Given the description of an element on the screen output the (x, y) to click on. 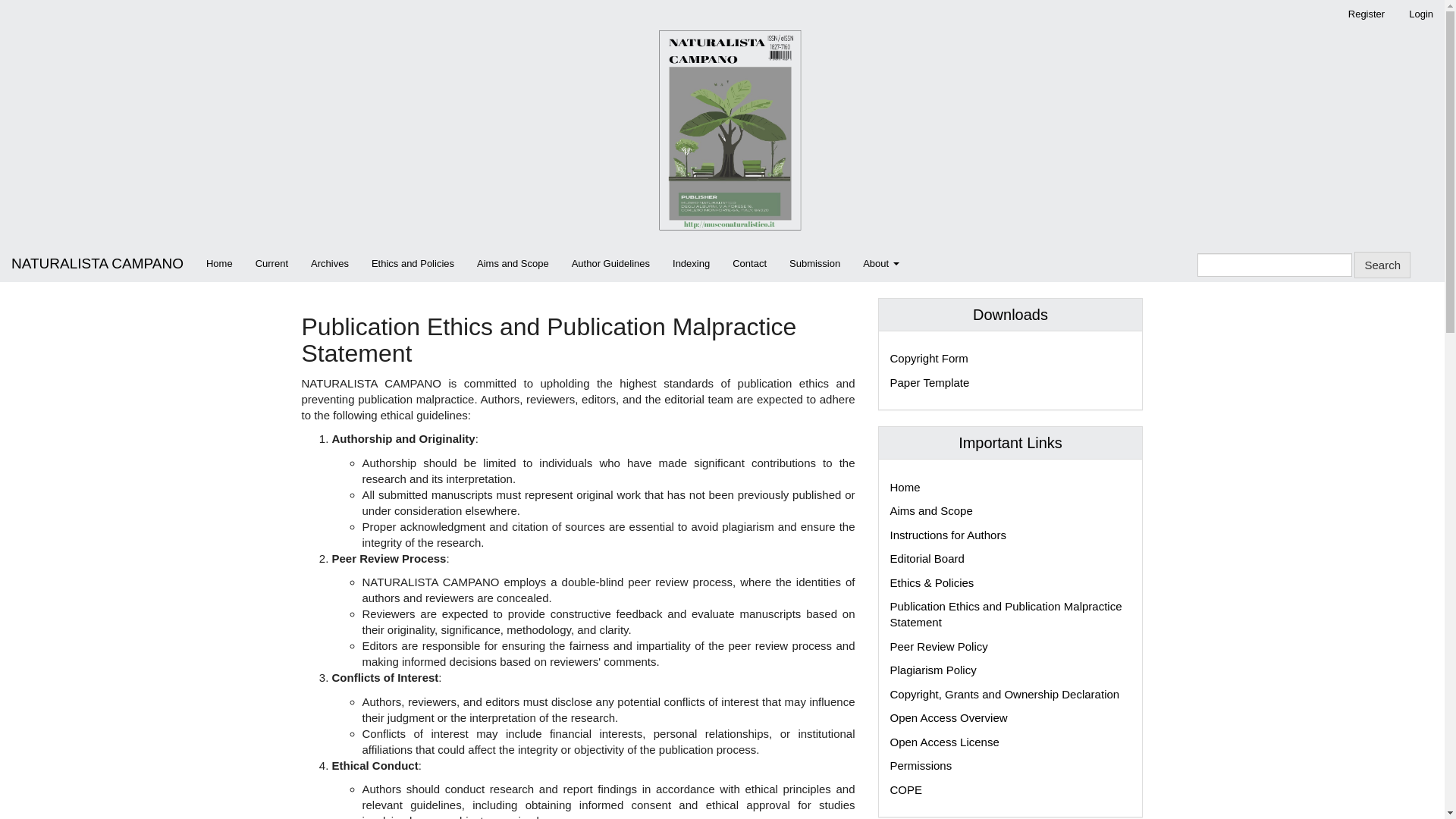
Search (1382, 264)
Submission (814, 263)
Author Guidelines (610, 263)
Aims and Scope (930, 510)
Archives (329, 263)
Aims and Scope (512, 263)
About (881, 263)
Contact (748, 263)
Publication Ethics and Publication Malpractice Statement (1005, 613)
Permissions (920, 765)
Plagiarism Policy (932, 669)
Indexing (690, 263)
NATURALISTA CAMPANO (97, 263)
Paper Template (929, 382)
Peer Review Policy (938, 645)
